Given the description of an element on the screen output the (x, y) to click on. 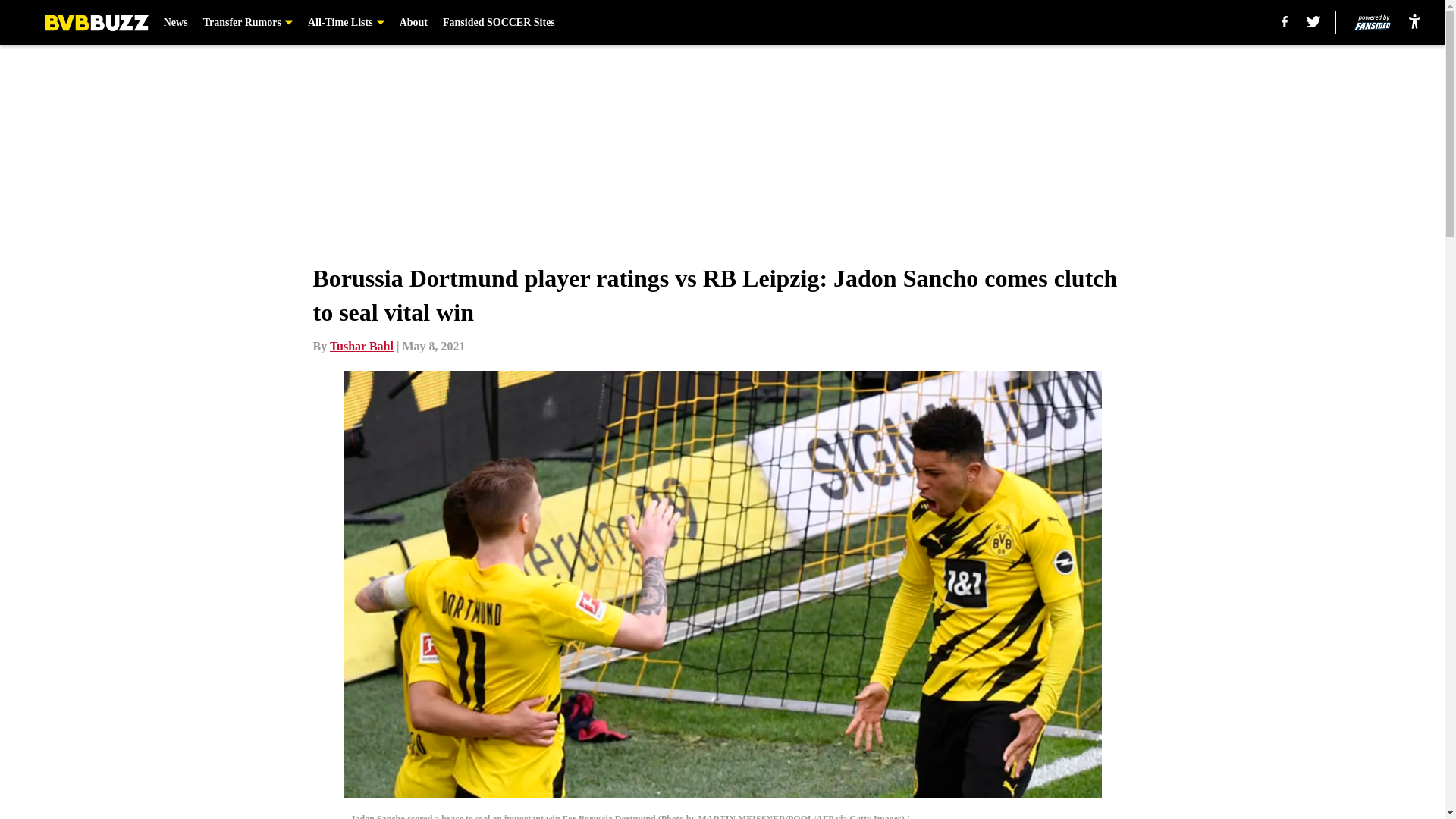
Tushar Bahl (361, 345)
News (175, 22)
Fansided SOCCER Sites (498, 22)
About (413, 22)
